Given the description of an element on the screen output the (x, y) to click on. 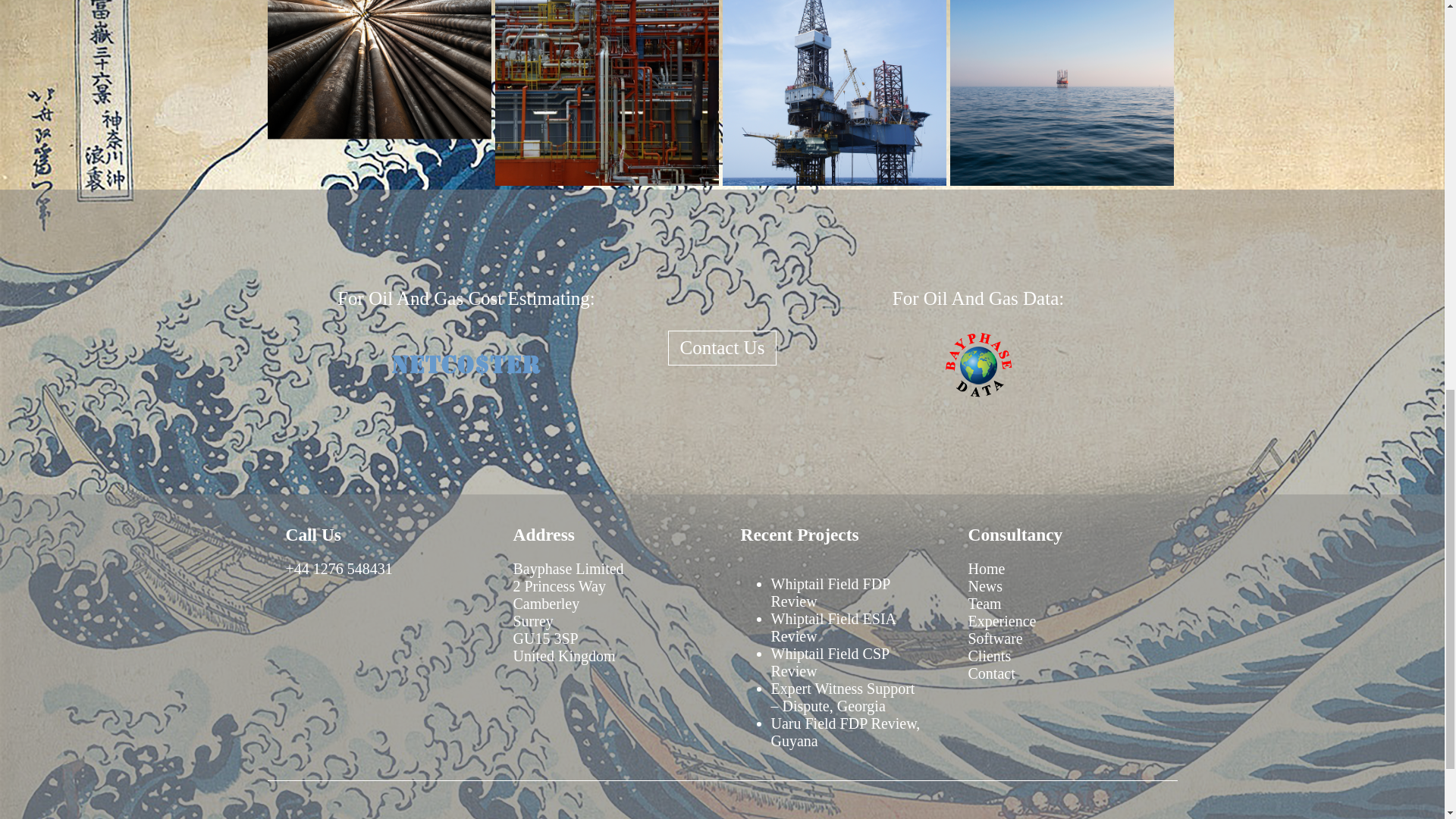
Whiptail Field FDP Review (829, 592)
Clients (989, 655)
Whiptail Field CSP Review (829, 662)
Uaru Field FDP Review, Guyana (845, 731)
Software (995, 638)
Home (986, 568)
Contact Us (722, 347)
Team (984, 603)
Whiptail Field ESIA Review (832, 627)
Contact (991, 673)
